Given the description of an element on the screen output the (x, y) to click on. 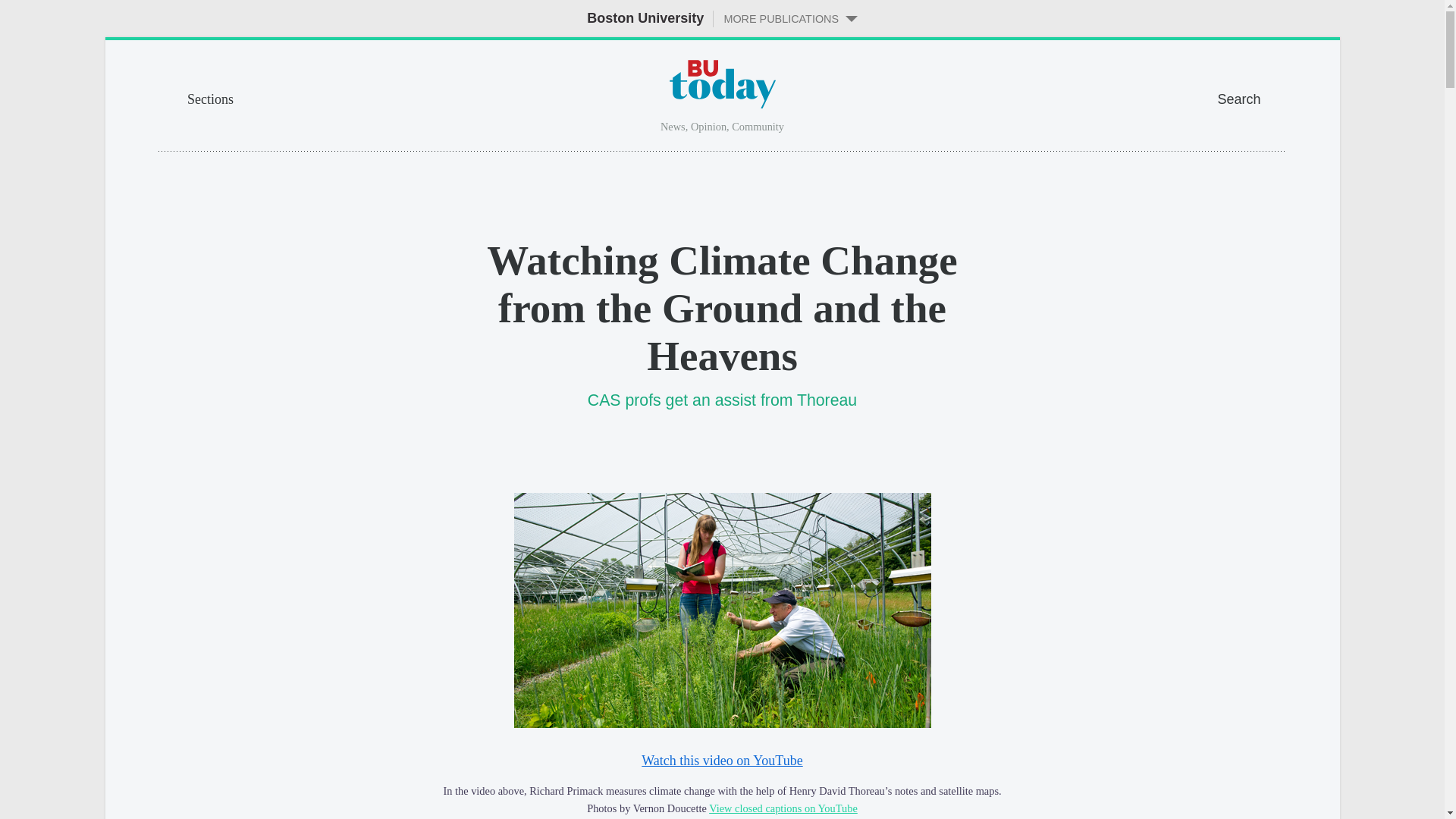
MORE PUBLICATIONS (785, 18)
Search (1251, 96)
View closed captions on YouTube (783, 808)
Boston University (644, 18)
View closed captions on YouTube (783, 808)
Sections (298, 96)
